Given the description of an element on the screen output the (x, y) to click on. 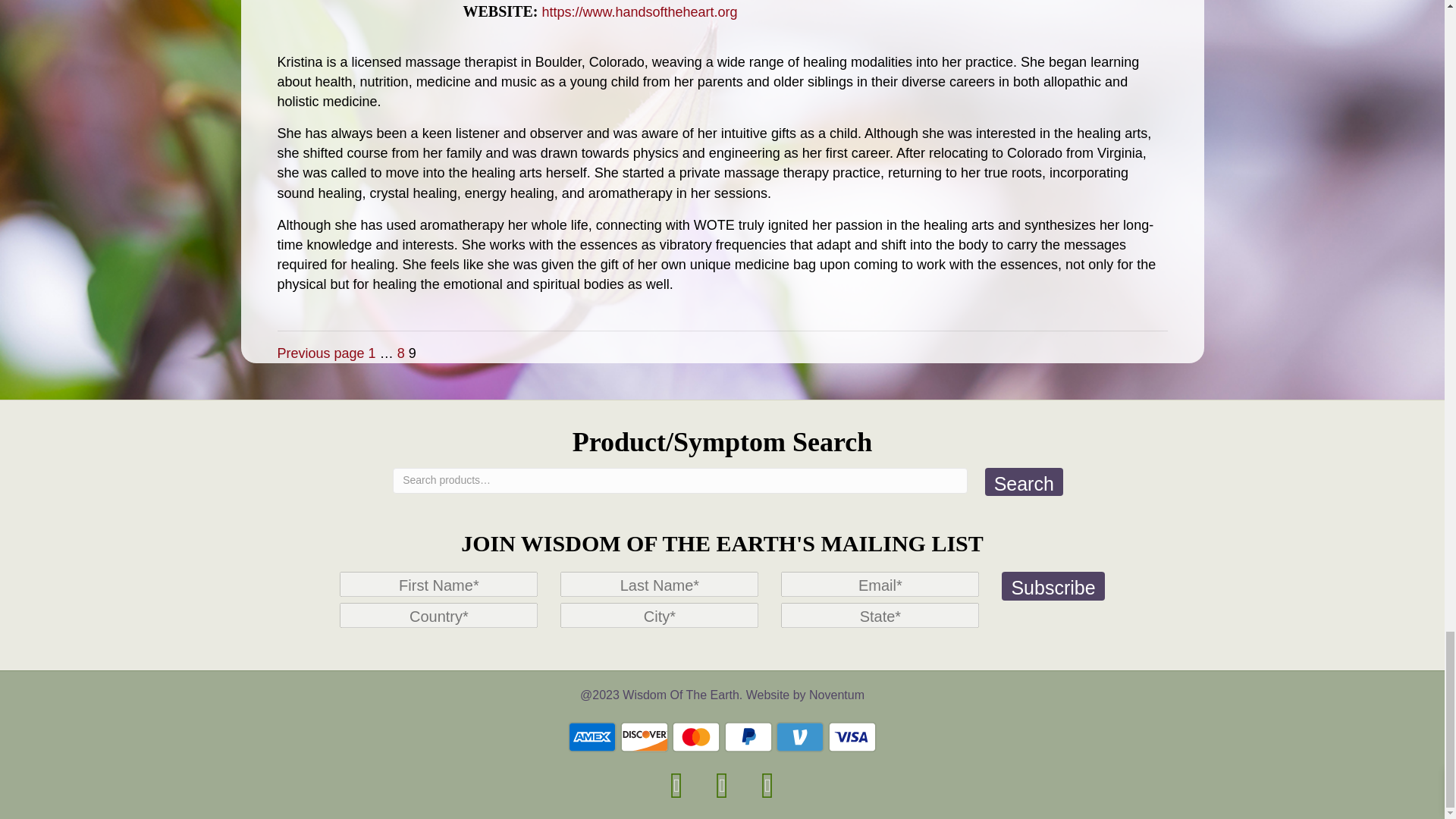
American Express (591, 736)
PayPal (748, 736)
Visa (852, 736)
Venmo (800, 736)
Discover (644, 736)
Mastercard (695, 736)
